Given the description of an element on the screen output the (x, y) to click on. 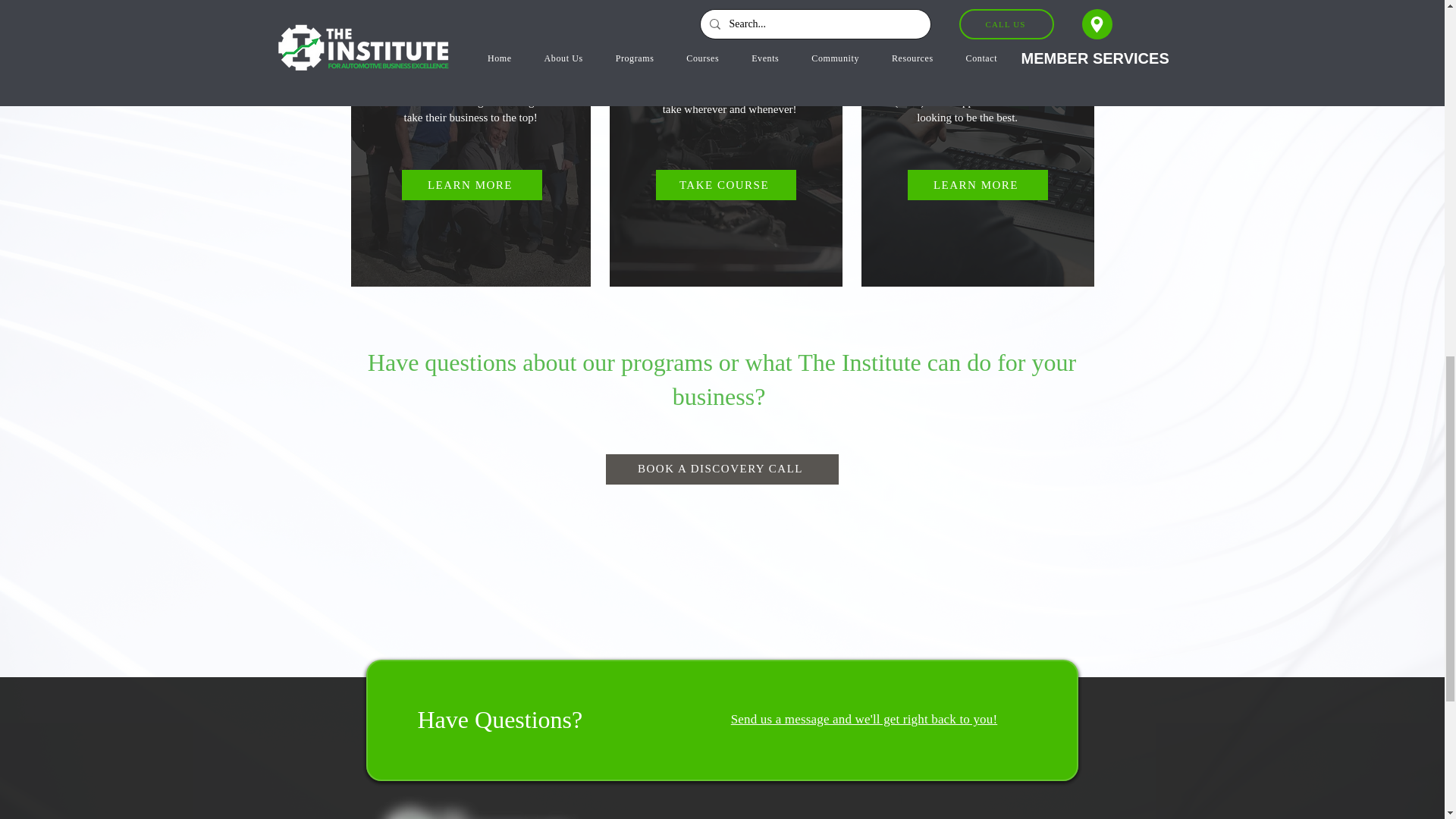
Have Questions? (499, 719)
TAKE COURSE (724, 184)
BOOK A DISCOVERY CALL (721, 469)
LEARN MORE (471, 184)
LEARN MORE (976, 184)
Send us a message and we'll get right back to you! (863, 718)
